Given the description of an element on the screen output the (x, y) to click on. 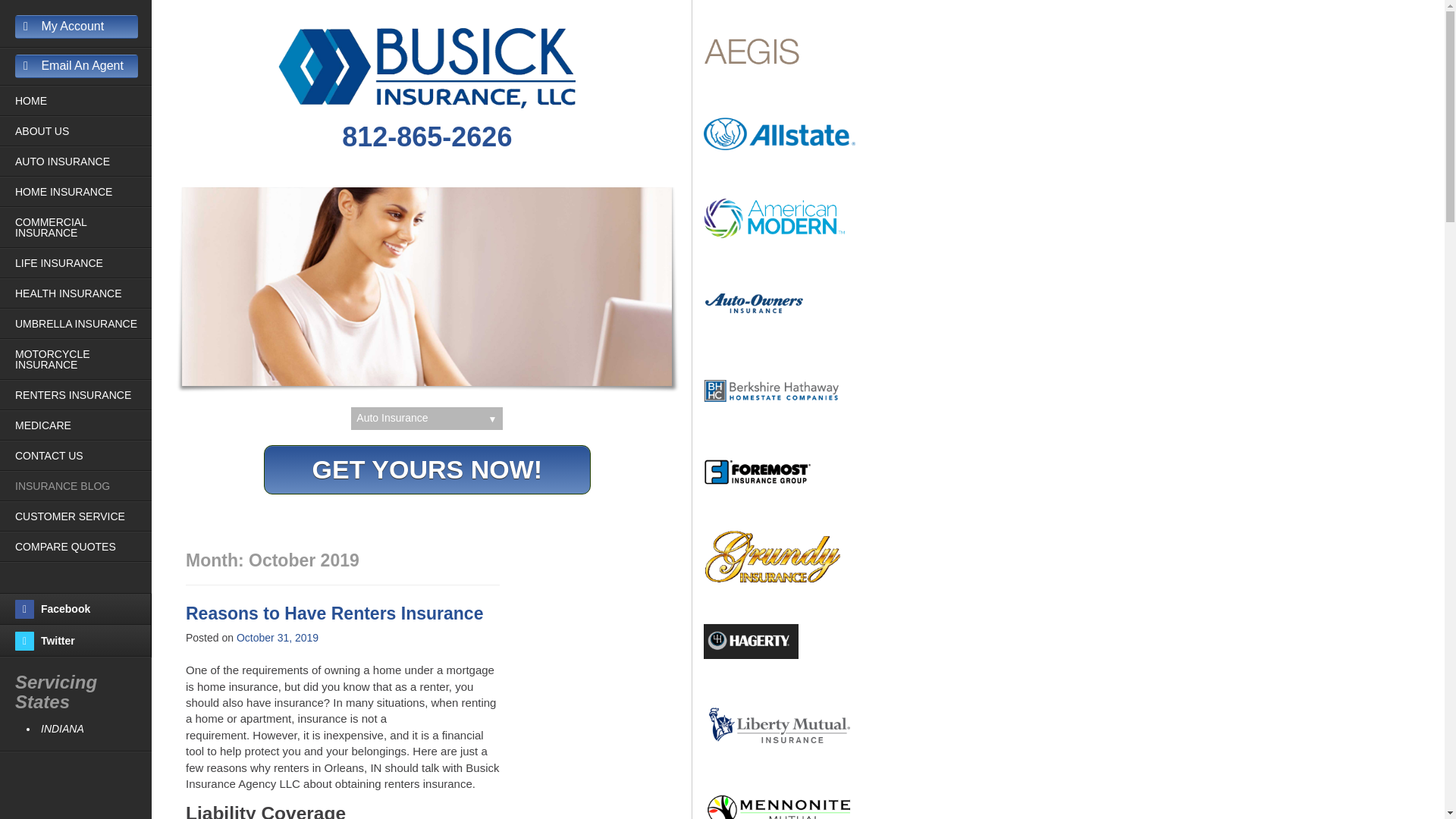
RENTERS INSURANCE (82, 394)
ABOUT US (82, 131)
October 31, 2019 (276, 637)
MEDICARE (82, 425)
COMMERCIAL INSURANCE (82, 227)
Twitter (82, 641)
LIFE INSURANCE (82, 262)
Health Insurance (82, 293)
INSURANCE BLOG (82, 485)
COMPARE QUOTES (82, 546)
Reasons to Have Renters Insurance (334, 613)
Email An Agent (76, 65)
Life Insurance (82, 262)
Commercial Insurance (82, 227)
Menu (16, 19)
